Given the description of an element on the screen output the (x, y) to click on. 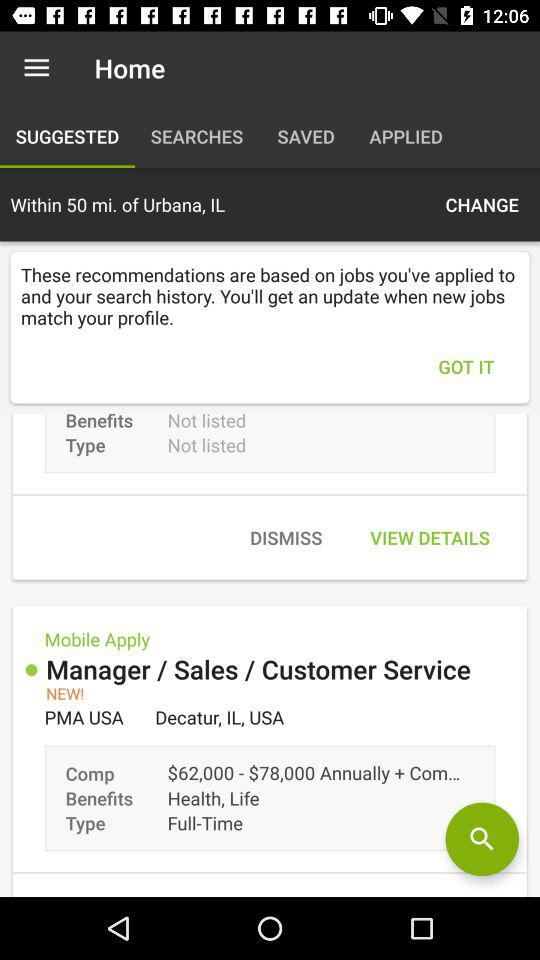
choose icon above manager sales customer (429, 537)
